Given the description of an element on the screen output the (x, y) to click on. 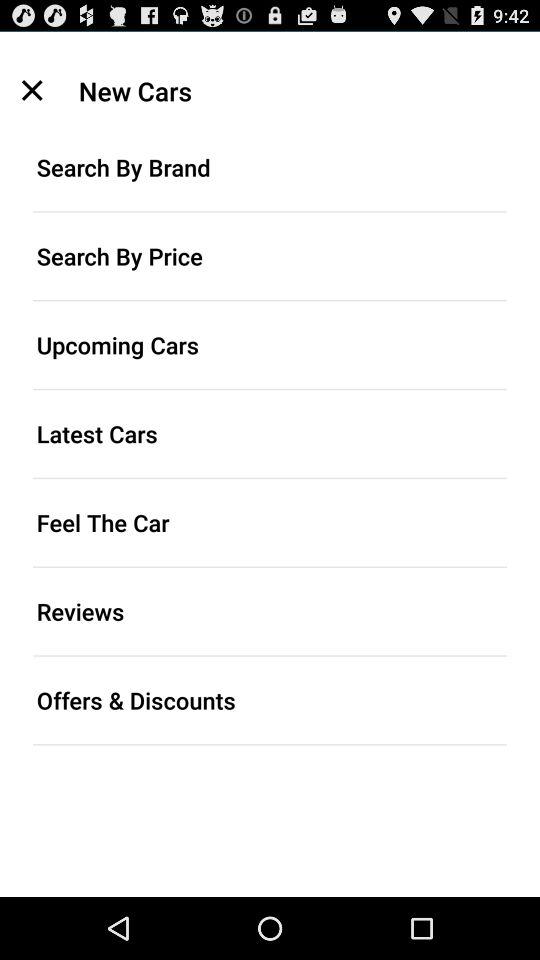
select latest cars item (270, 433)
